Given the description of an element on the screen output the (x, y) to click on. 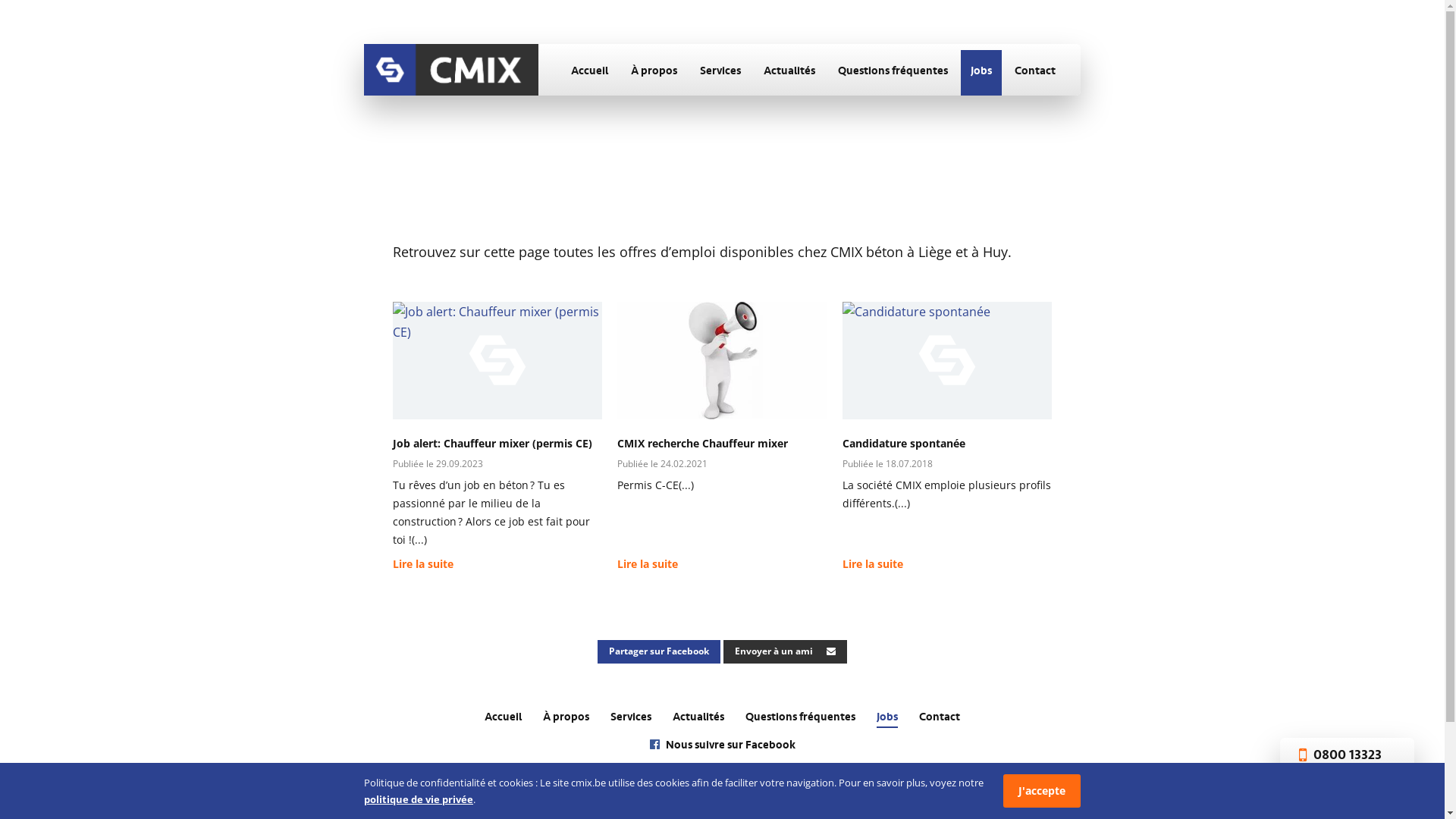
Partager sur Facebook Element type: text (658, 651)
Nous suivre sur Facebook Element type: text (721, 746)
0800 13323 Element type: text (1347, 755)
Accueil Element type: text (502, 718)
Contact Element type: text (939, 718)
Jobs Element type: text (886, 718)
planning@cmix.be Element type: text (1347, 770)
Lire la suite Element type: text (647, 567)
Lire la suite Element type: text (872, 567)
Accueil Element type: text (589, 72)
Lire la suite Element type: text (422, 567)
CMIX recherche Chauffeur mixer Element type: text (702, 443)
Jobs Element type: text (980, 72)
Services Element type: text (720, 72)
Contact Element type: text (1034, 72)
J'accepte Element type: text (1041, 790)
Job alert: Chauffeur mixer (permis CE) Element type: text (492, 443)
Services Element type: text (630, 718)
